Given the description of an element on the screen output the (x, y) to click on. 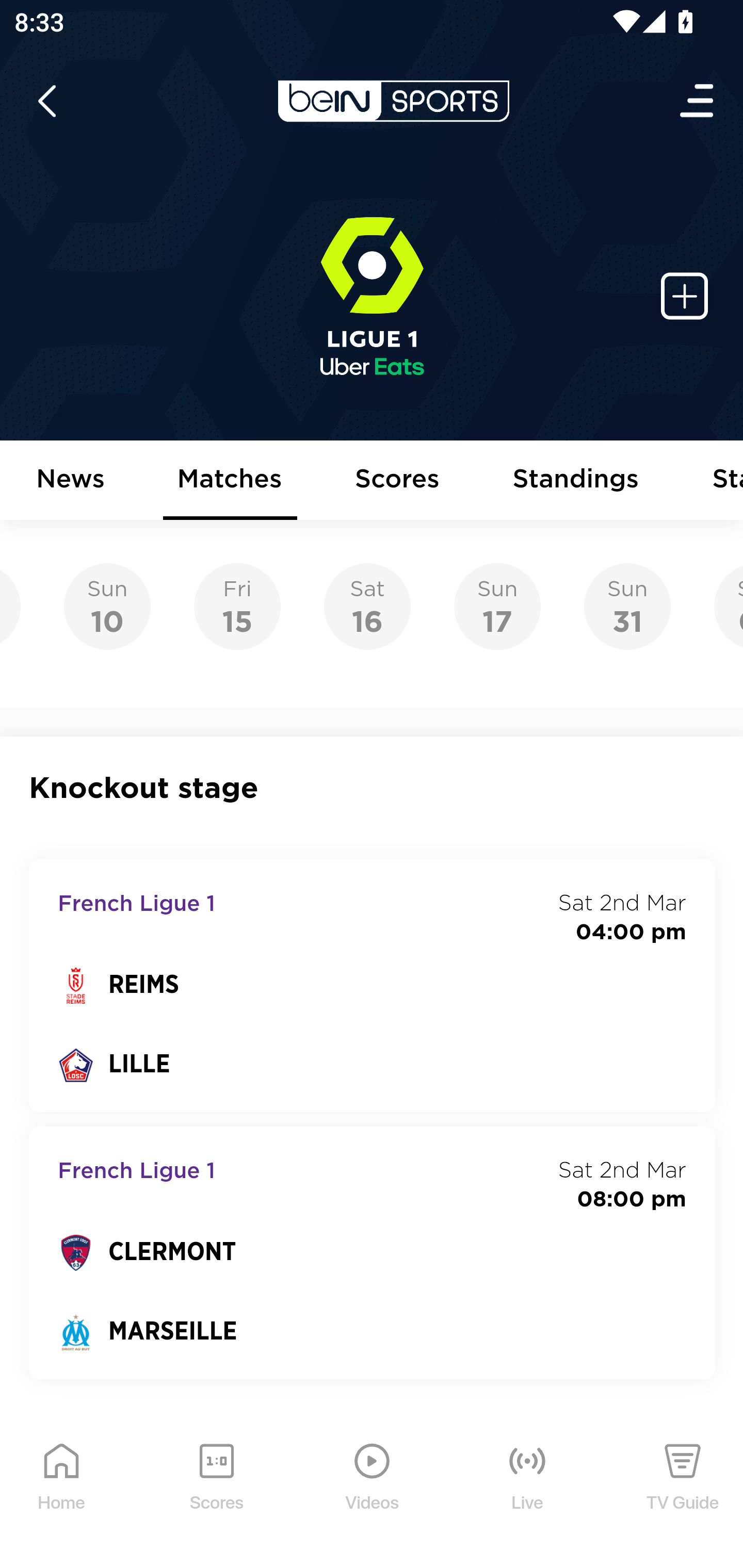
en-us?platform=mobile_android bein logo white (392, 101)
icon back (46, 101)
Open Menu Icon (697, 101)
News (70, 480)
Matches (229, 480)
Scores (397, 480)
Standings (575, 480)
Sun10 (107, 606)
Fri15 (237, 606)
Sat16 (367, 606)
Sun17 (497, 606)
Sun31 (627, 606)
Knockout stage (372, 787)
Home Home Icon Home (61, 1491)
Scores Scores Icon Scores (216, 1491)
Videos Videos Icon Videos (372, 1491)
TV Guide TV Guide Icon TV Guide (682, 1491)
